Given the description of an element on the screen output the (x, y) to click on. 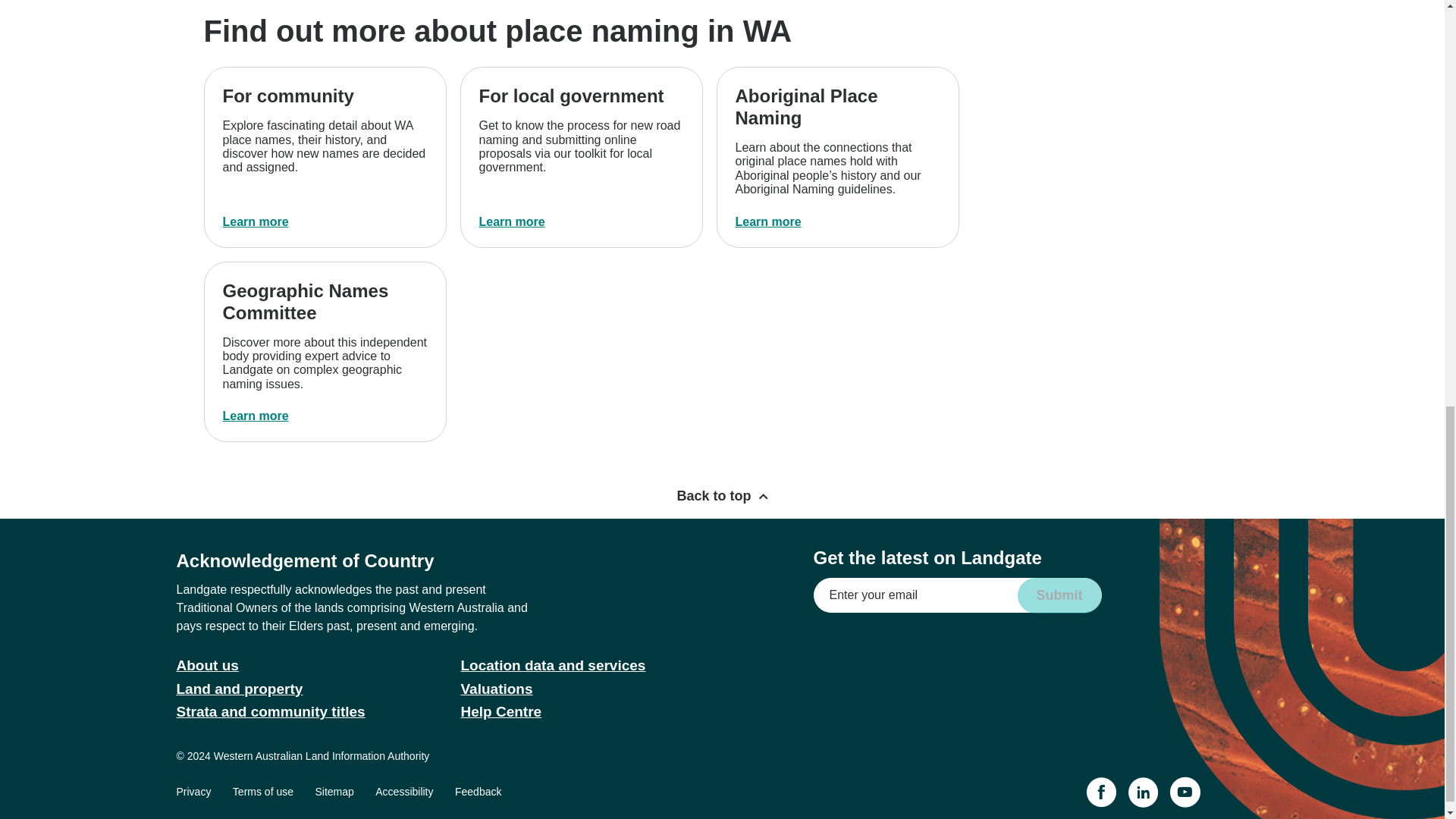
Location data and services (553, 665)
Valuations (496, 688)
Help Centre (501, 711)
